Given the description of an element on the screen output the (x, y) to click on. 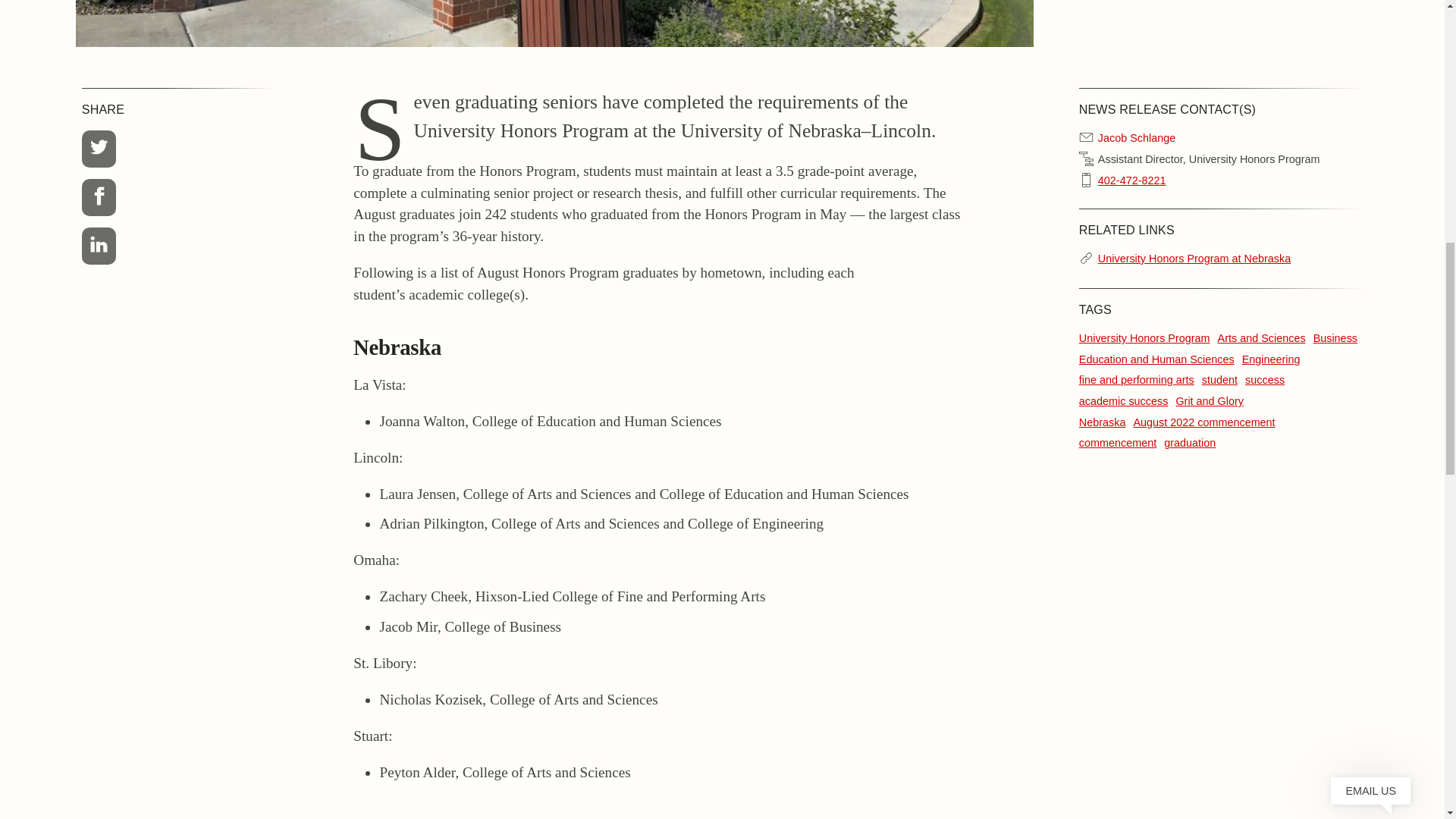
fine and performing arts (1135, 379)
academic success (1123, 400)
graduation (1189, 442)
Business (1334, 337)
University Honors Program (1143, 337)
August 2022 commencement (1203, 422)
402-472-8221 (1131, 180)
Grit and Glory (1208, 400)
commencement (1117, 442)
Nebraska (1101, 422)
Engineering (1270, 358)
Jacob Schlange (1135, 138)
Education and Human Sciences (1156, 358)
success (1264, 379)
University Honors Program at Nebraska (1193, 258)
